Given the description of an element on the screen output the (x, y) to click on. 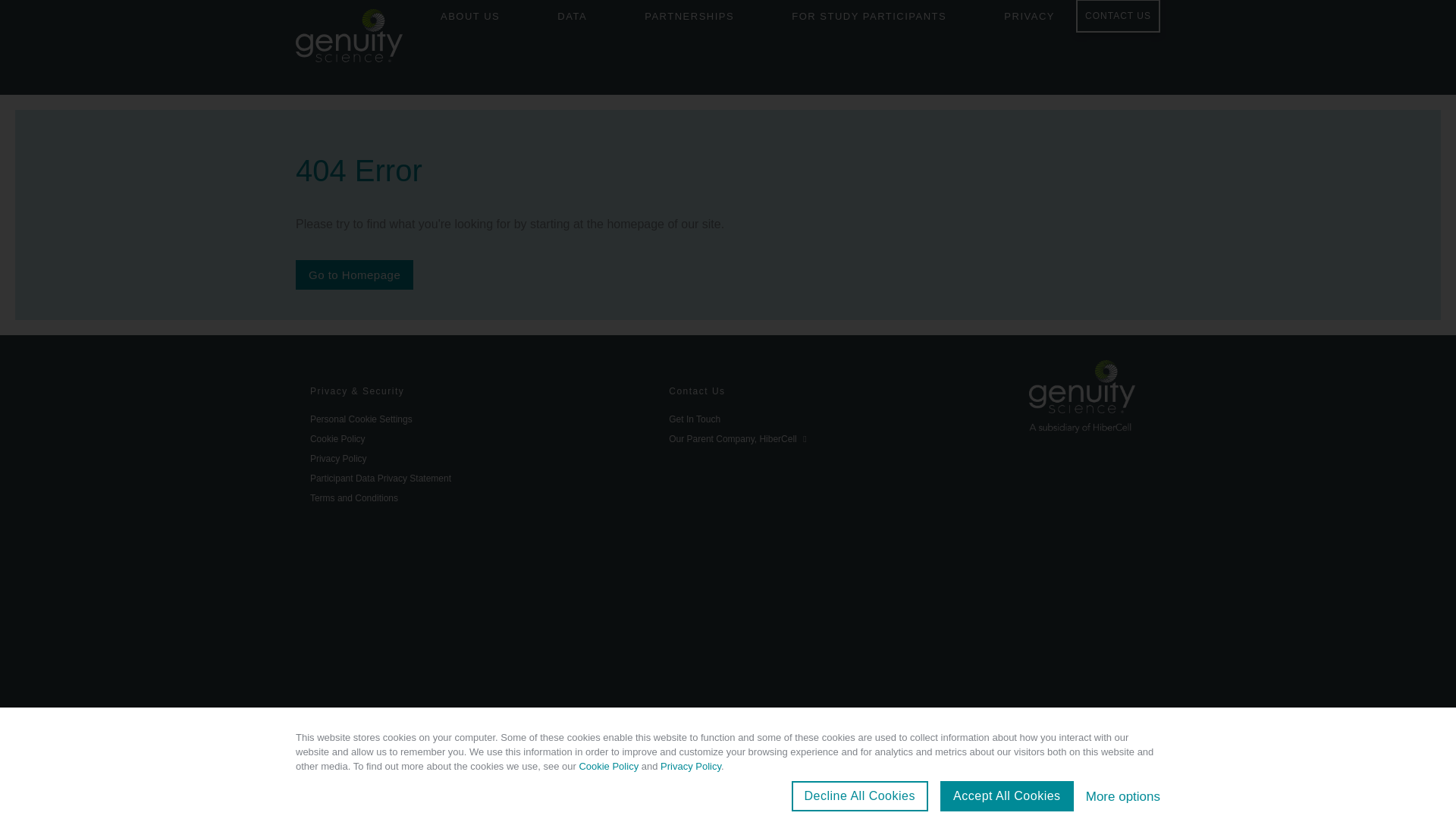
FOR STUDY PARTICIPANTS (868, 19)
Get In Touch (833, 419)
PRIVACY (1029, 19)
Genuity Science (349, 38)
Privacy Policy (475, 458)
Accept All Cookies (1007, 796)
Contact Us (833, 391)
ABOUT US (470, 19)
PARTNERSHIPS (688, 19)
More options (1123, 796)
